Given the description of an element on the screen output the (x, y) to click on. 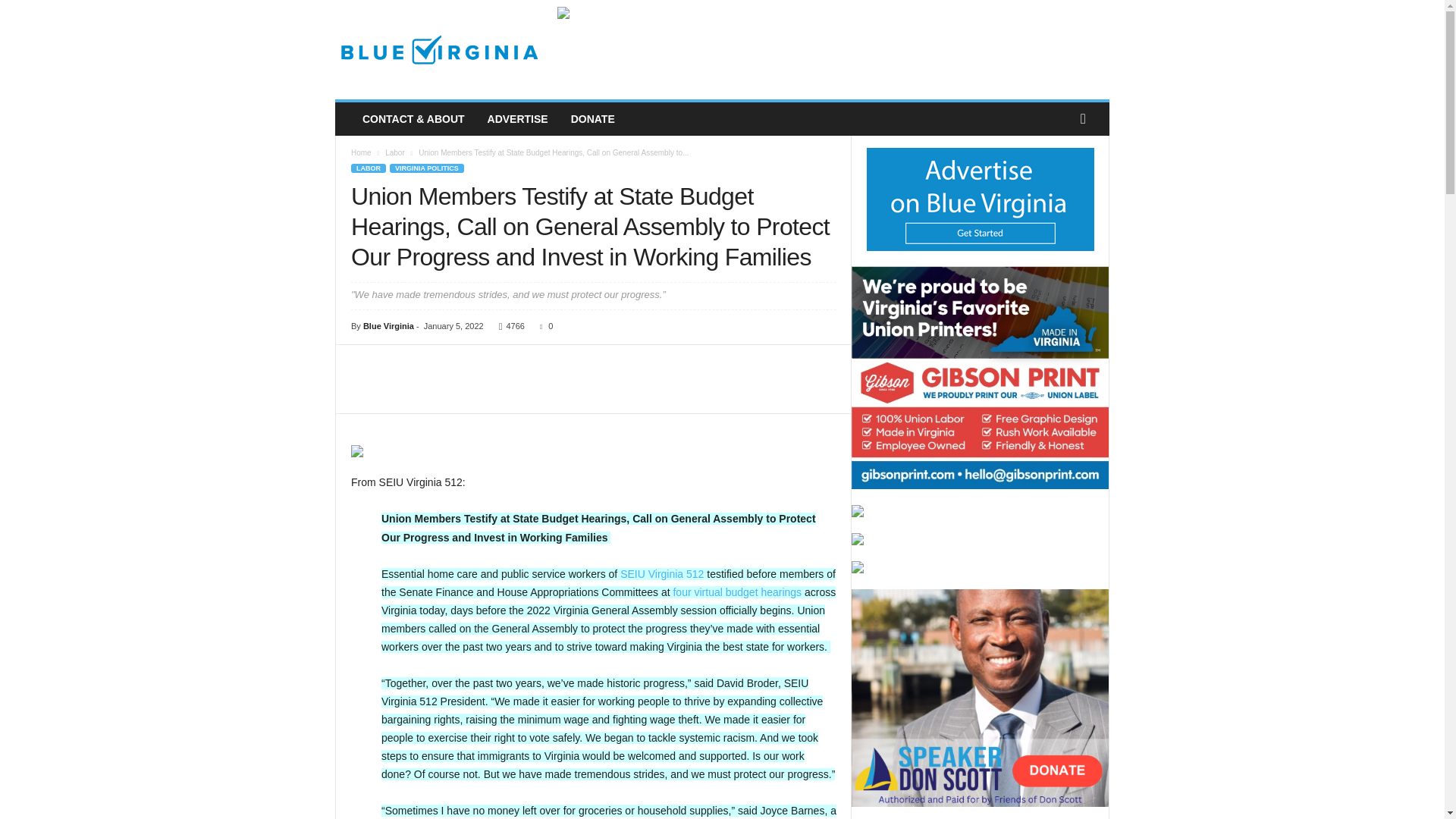
Home (360, 152)
LABOR (367, 167)
Blue Virginia (437, 49)
Blue Virginia (387, 325)
0 (543, 325)
Labor (394, 152)
VIRGINIA POLITICS (427, 167)
ADVERTISE (517, 118)
SEIU Virginia 512 (661, 573)
DONATE (592, 118)
